Given the description of an element on the screen output the (x, y) to click on. 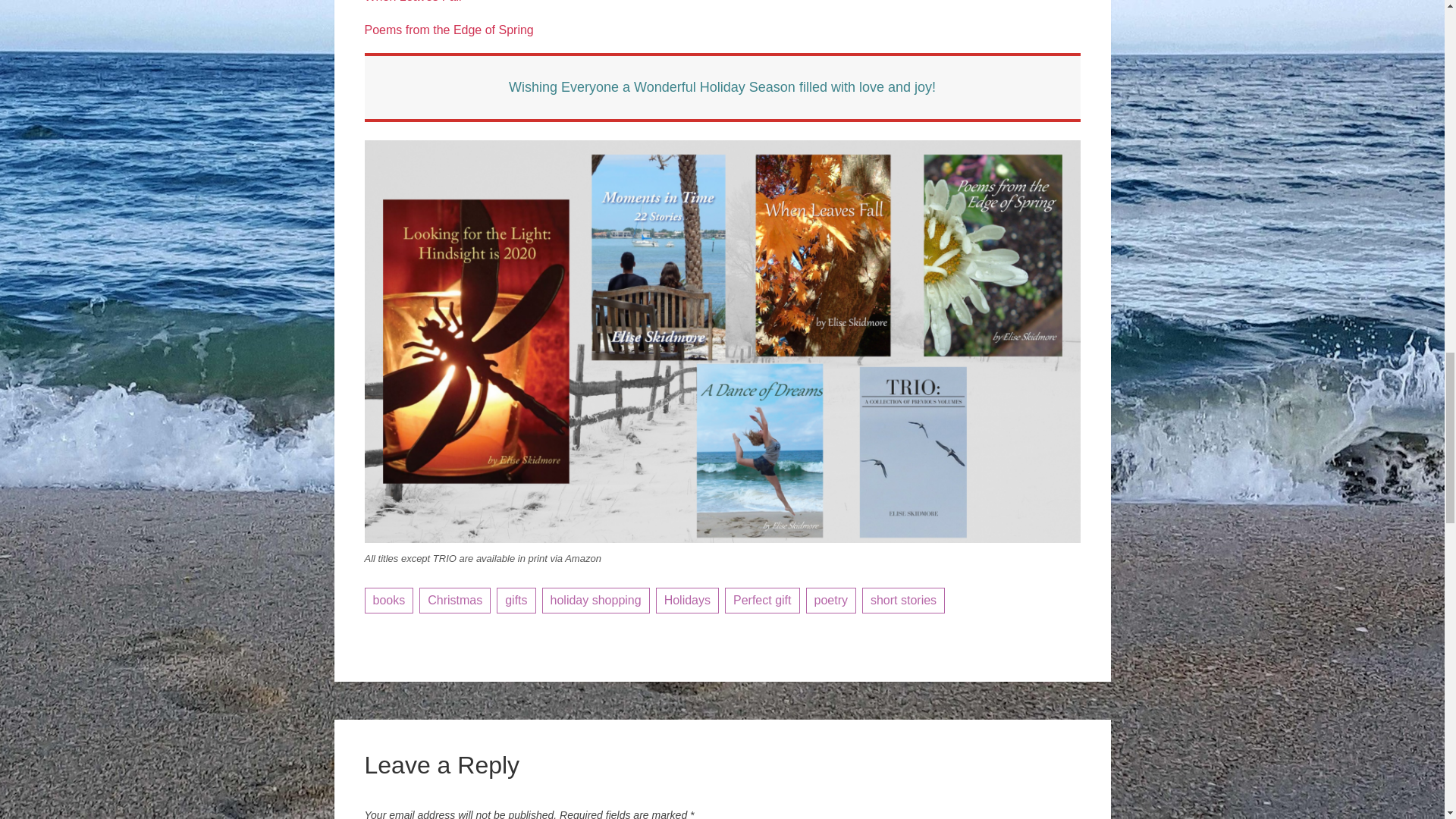
Holidays (687, 600)
gifts (515, 600)
books (388, 600)
poetry (830, 600)
Poems from the Edge of Spring (448, 29)
Christmas (454, 600)
When Leaves Fall (412, 1)
short stories (902, 600)
holiday shopping (595, 600)
Perfect gift (762, 600)
